Given the description of an element on the screen output the (x, y) to click on. 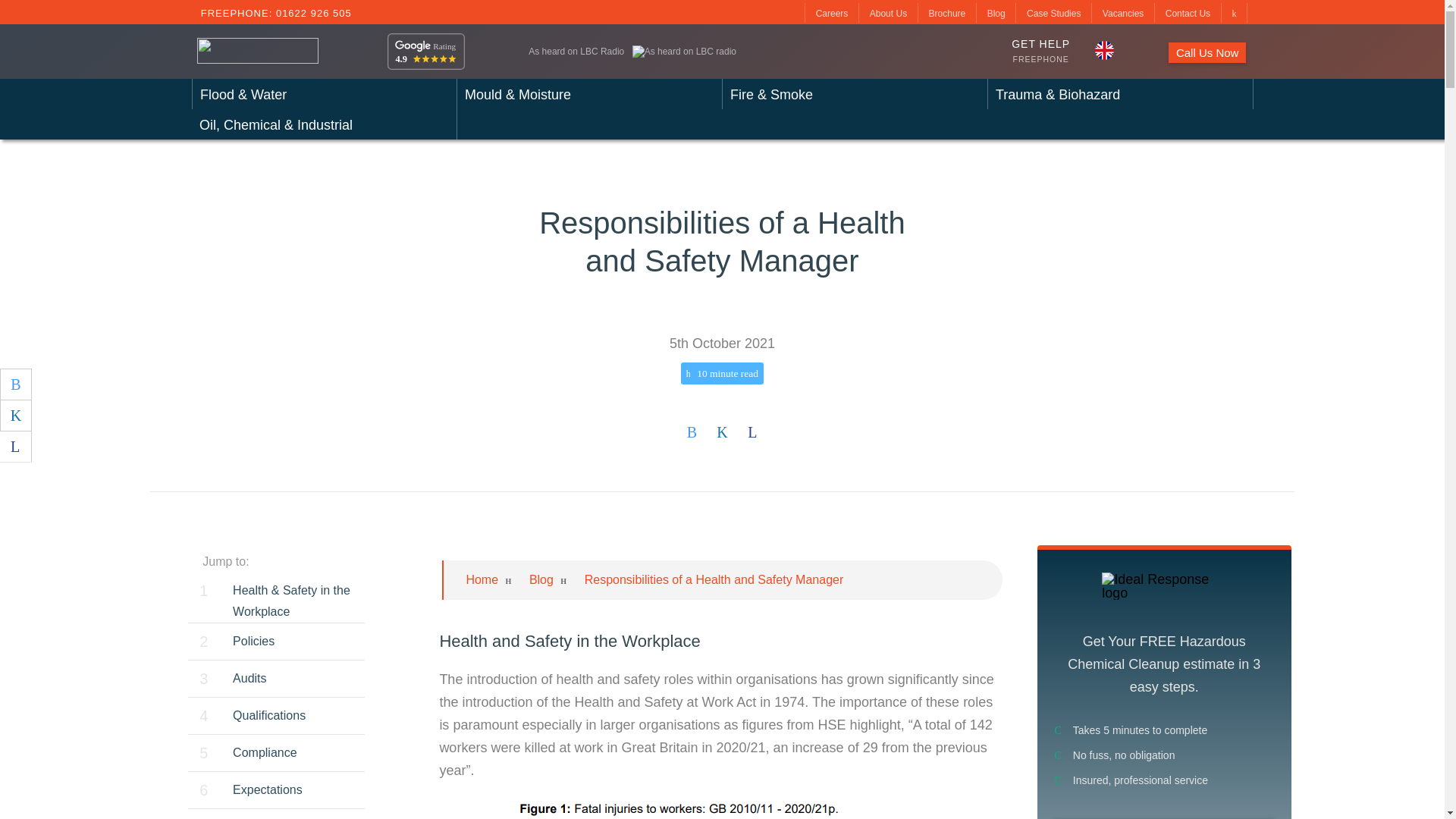
As heard on LBC radio (683, 51)
Blog (996, 13)
Ideal Response logo (1163, 585)
Brochure (947, 13)
Share to Twitter (16, 384)
Contact Us (1187, 13)
Vacancies (1122, 13)
Call Us Now (1207, 52)
Case Studies (1053, 13)
Servicing nationwide across the United Kingdom (1103, 49)
